Given the description of an element on the screen output the (x, y) to click on. 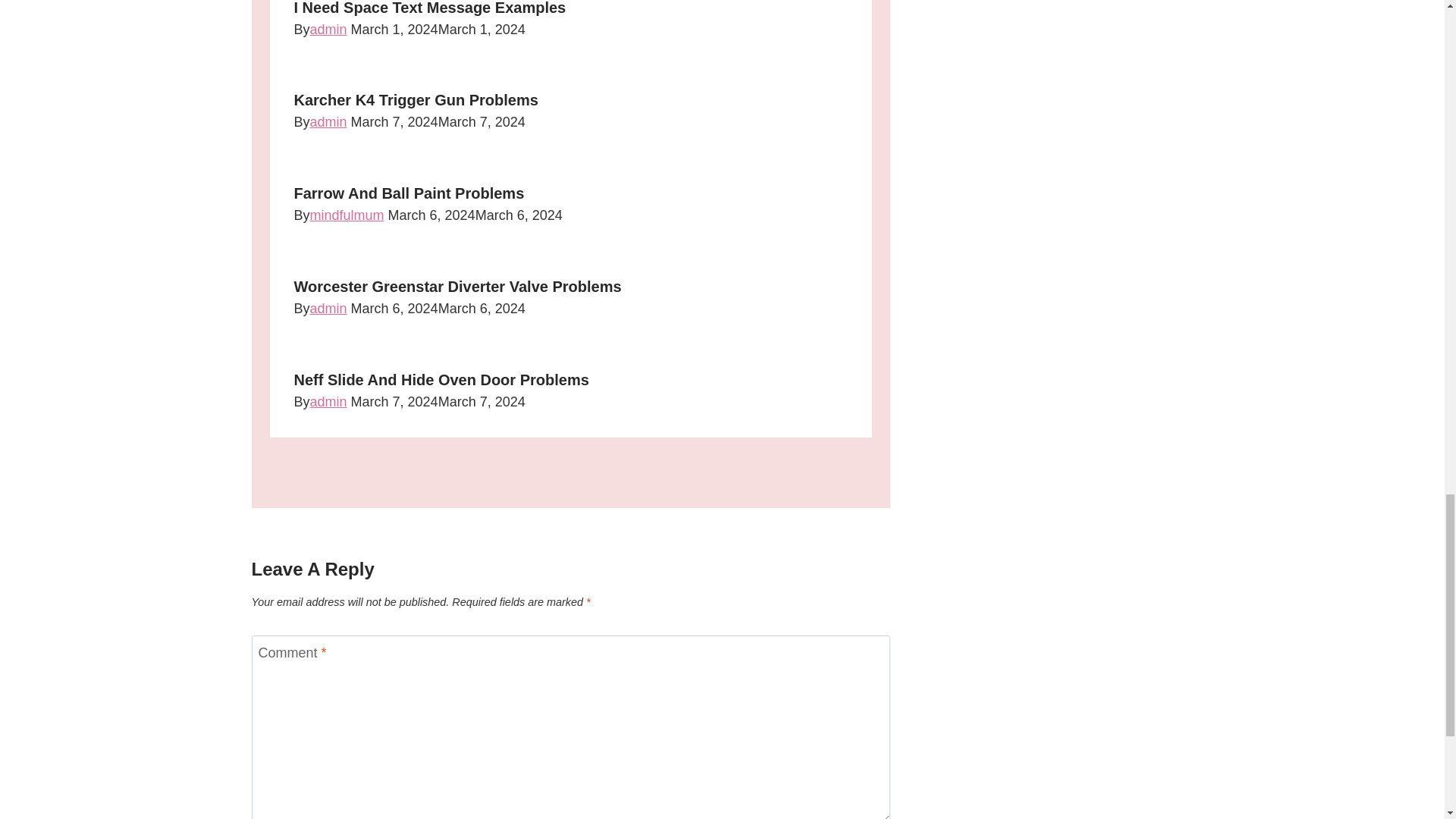
mindfulmum (347, 215)
admin (328, 308)
I Need Space Text Message Examples (430, 7)
Worcester Greenstar Diverter Valve Problems (457, 286)
Neff Slide And Hide Oven Door Problems (441, 379)
Farrow And Ball Paint Problems (409, 193)
admin (328, 121)
Karcher K4 Trigger Gun Problems (416, 99)
admin (328, 29)
